Given the description of an element on the screen output the (x, y) to click on. 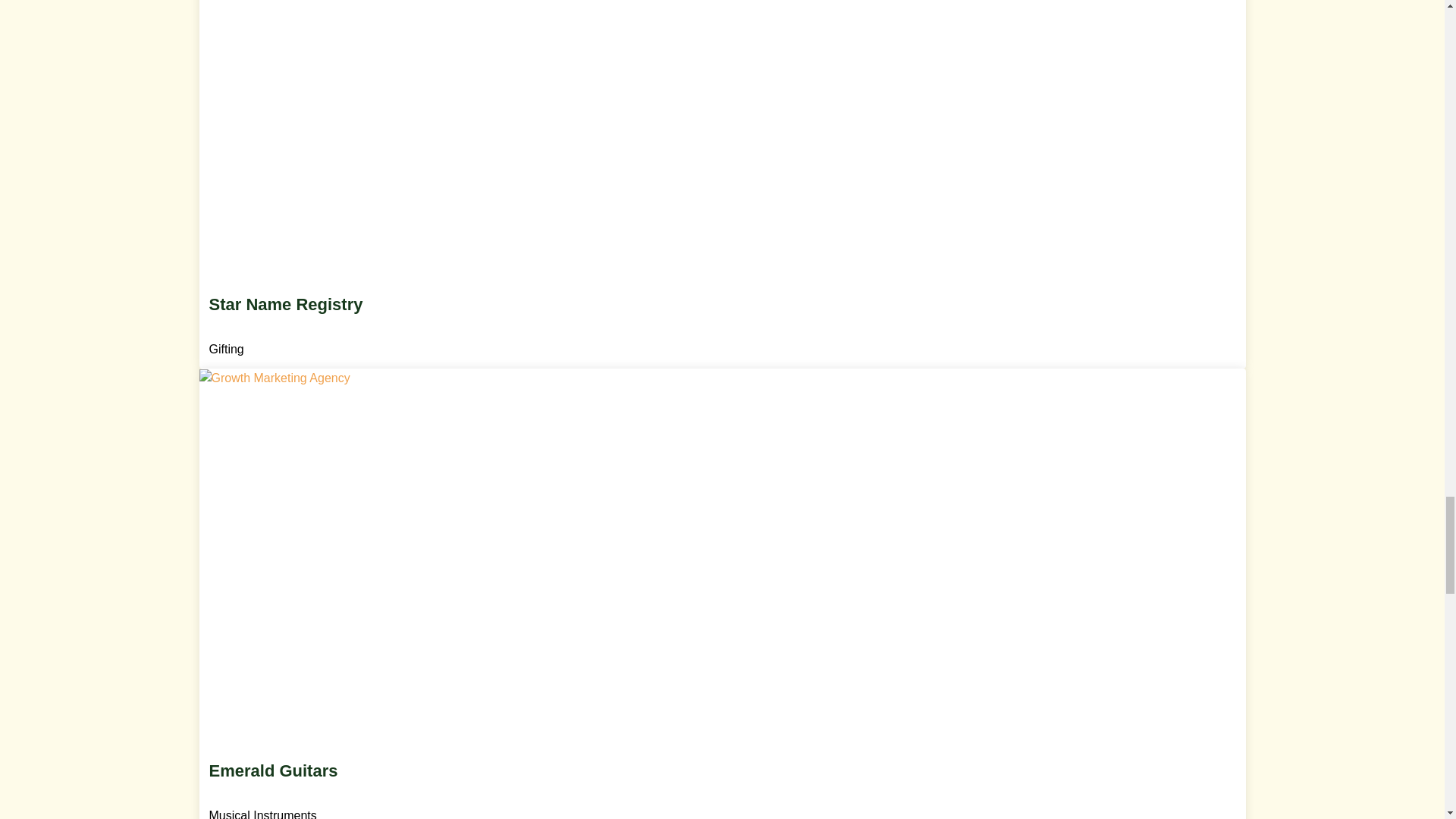
Star Name Registry (722, 324)
Emerald Guitars (722, 789)
Musical Instruments (264, 814)
Gifting (228, 349)
